Given the description of an element on the screen output the (x, y) to click on. 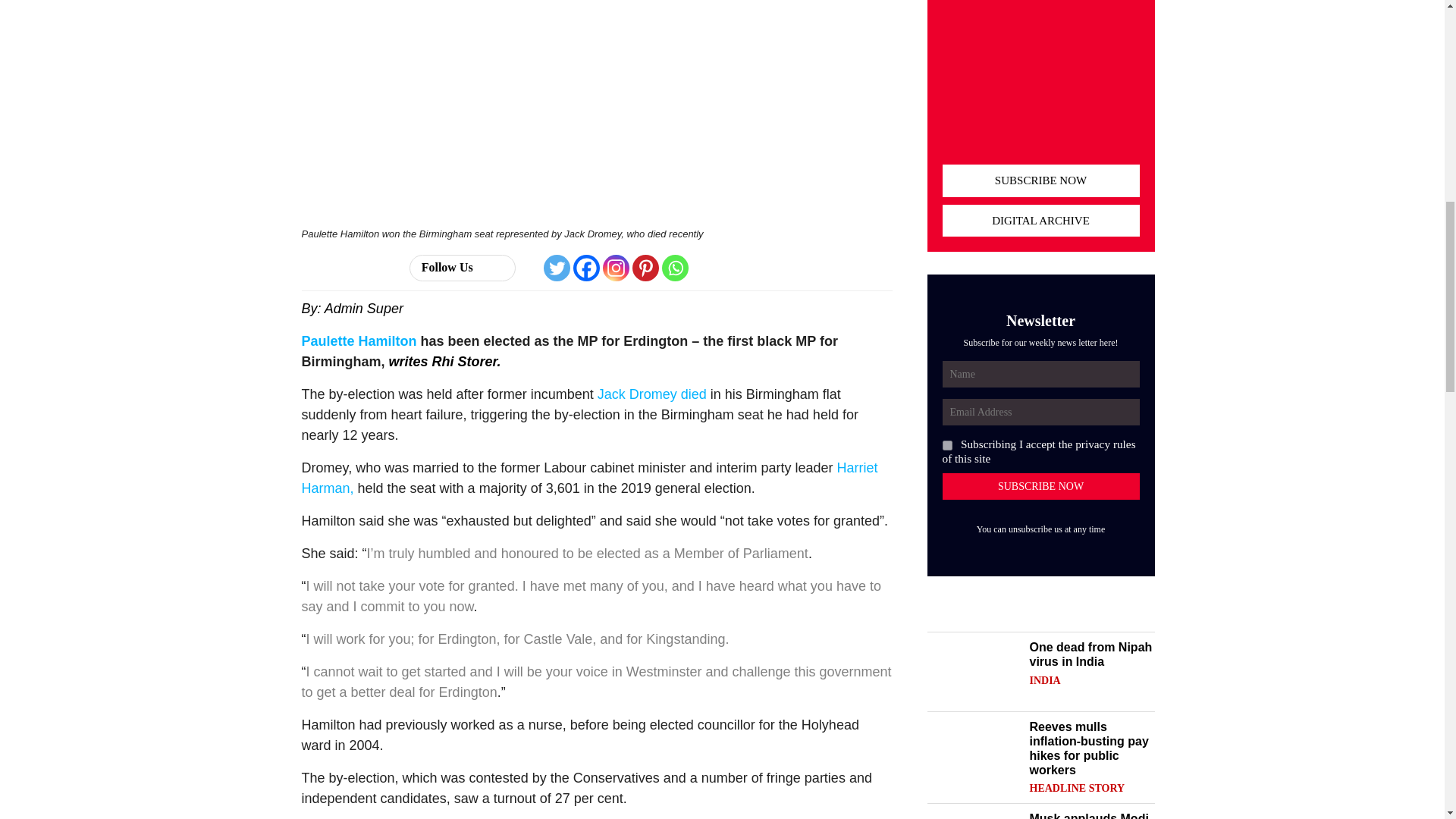
Subscribe Now (1040, 486)
Facebook (586, 267)
Instagram (615, 267)
on (947, 445)
Whatsapp (675, 267)
Pinterest (645, 267)
Twitter (556, 267)
